Given the description of an element on the screen output the (x, y) to click on. 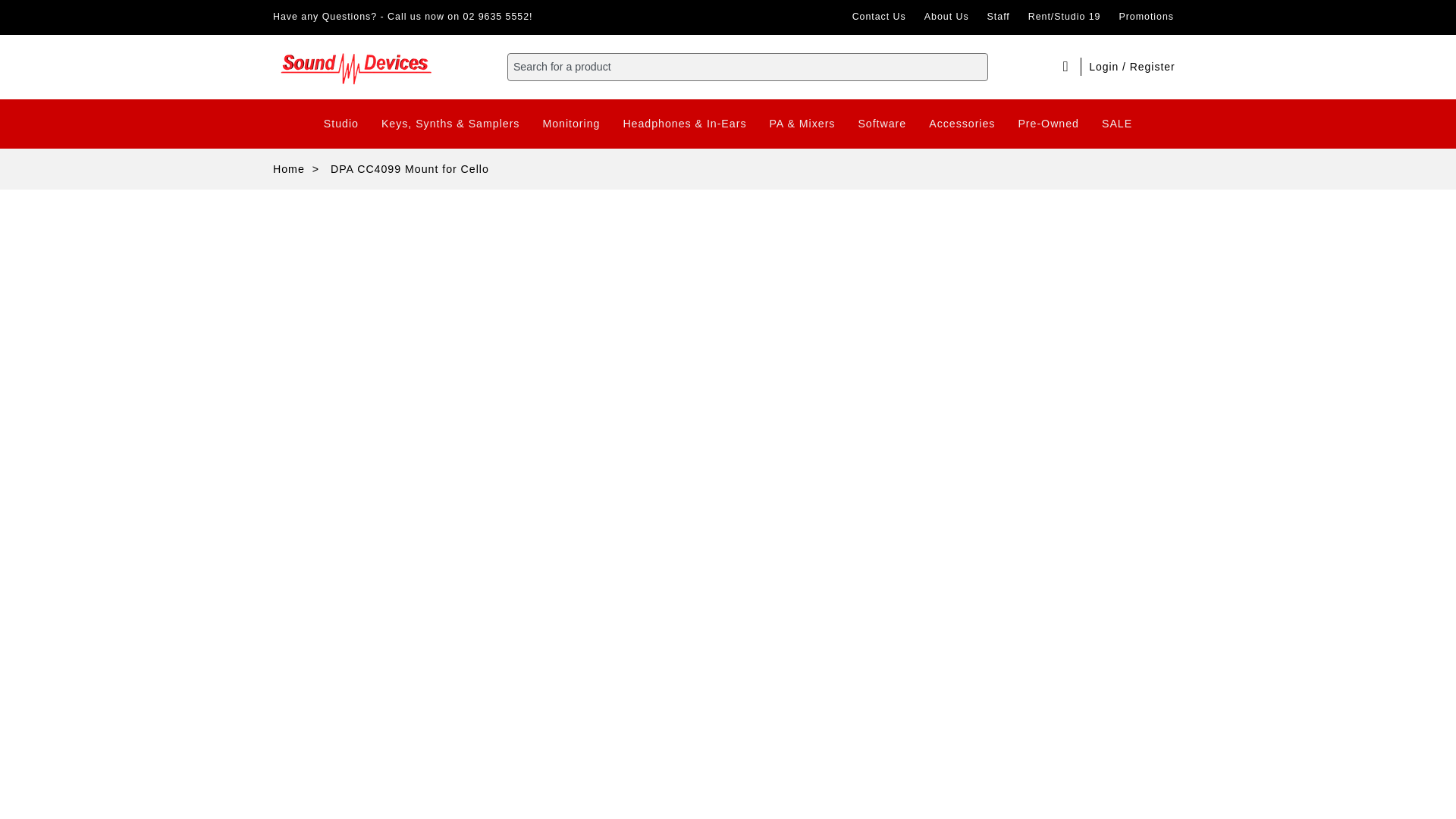
Login (1105, 66)
Staff (998, 16)
Contact Us (879, 16)
Register (1151, 66)
About Us (946, 16)
Promotions (1145, 16)
Studio (341, 123)
